Given the description of an element on the screen output the (x, y) to click on. 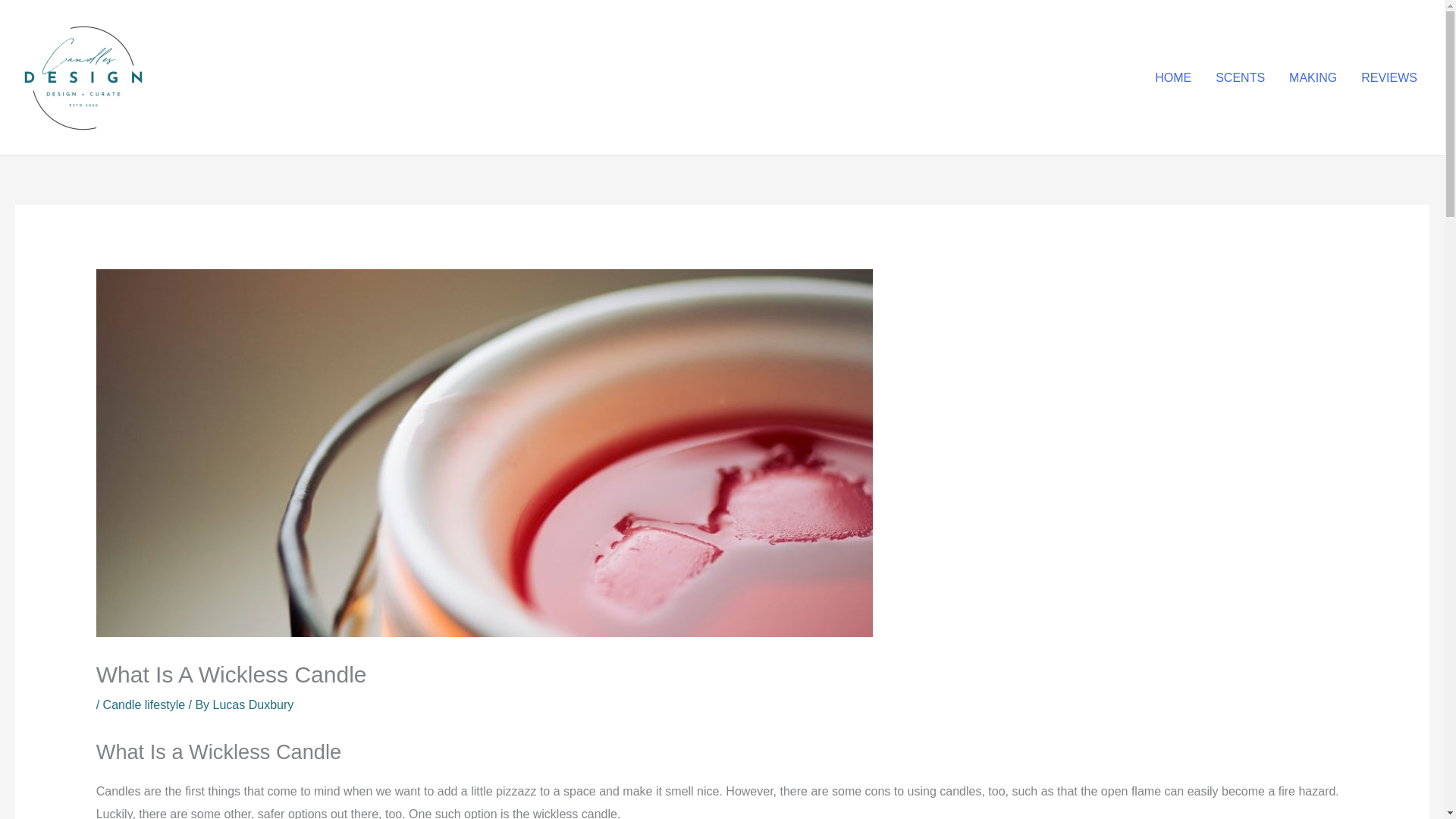
HOME (1173, 77)
Candle lifestyle (144, 704)
REVIEWS (1389, 77)
Lucas Duxbury (253, 704)
MAKING (1312, 77)
View all posts by Lucas Duxbury (253, 704)
SCENTS (1240, 77)
